Given the description of an element on the screen output the (x, y) to click on. 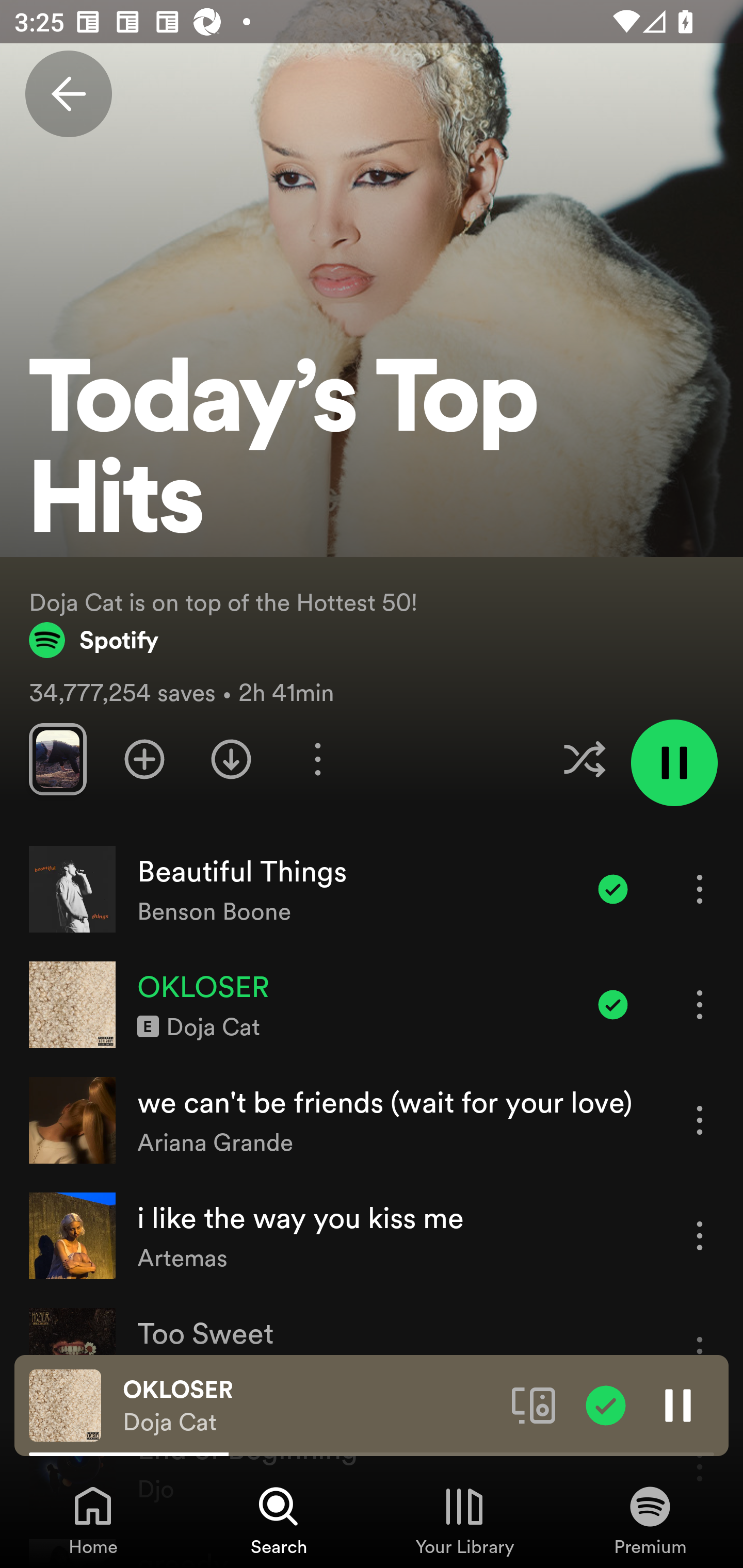
Back (68, 93)
Spotify (93, 640)
Swipe through previews of tracks in this playlist. (57, 759)
Add playlist to Your Library (144, 759)
Download (230, 759)
More options for playlist Today’s Top Hits (317, 759)
Enable shuffle for this playlist (583, 759)
Pause playlist (674, 762)
Item added (612, 888)
More options for song Beautiful Things (699, 888)
Item added (612, 1004)
More options for song OKLOSER (699, 1004)
More options for song i like the way you kiss me (699, 1236)
Too Sweet Hozier More options for song Too Sweet (371, 1351)
